Given the description of an element on the screen output the (x, y) to click on. 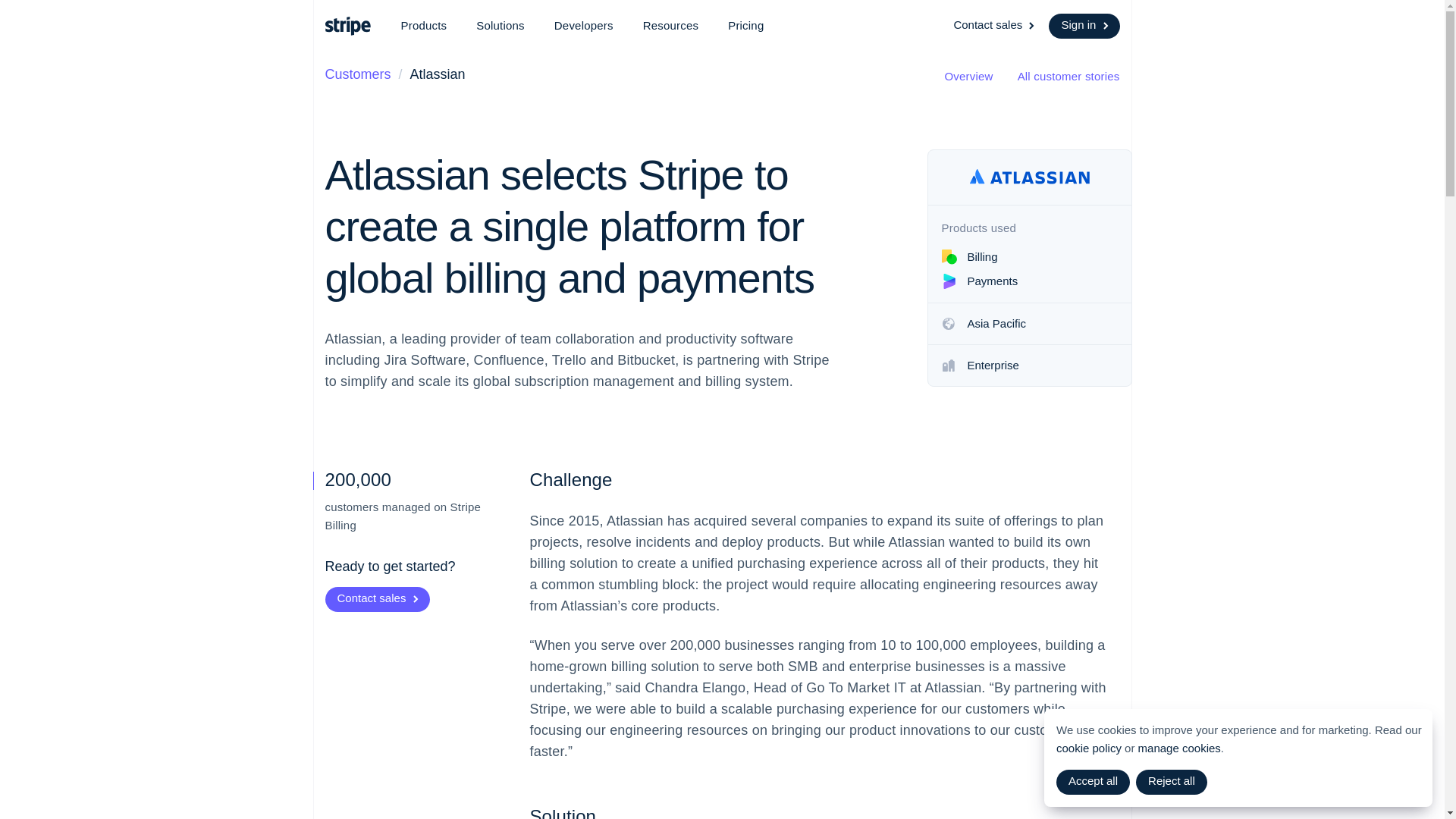
Pricing (745, 25)
Resources (670, 25)
Solutions (500, 25)
Contact sales  (994, 25)
Products (423, 25)
Developers (583, 25)
Sign in  (1083, 25)
